Given the description of an element on the screen output the (x, y) to click on. 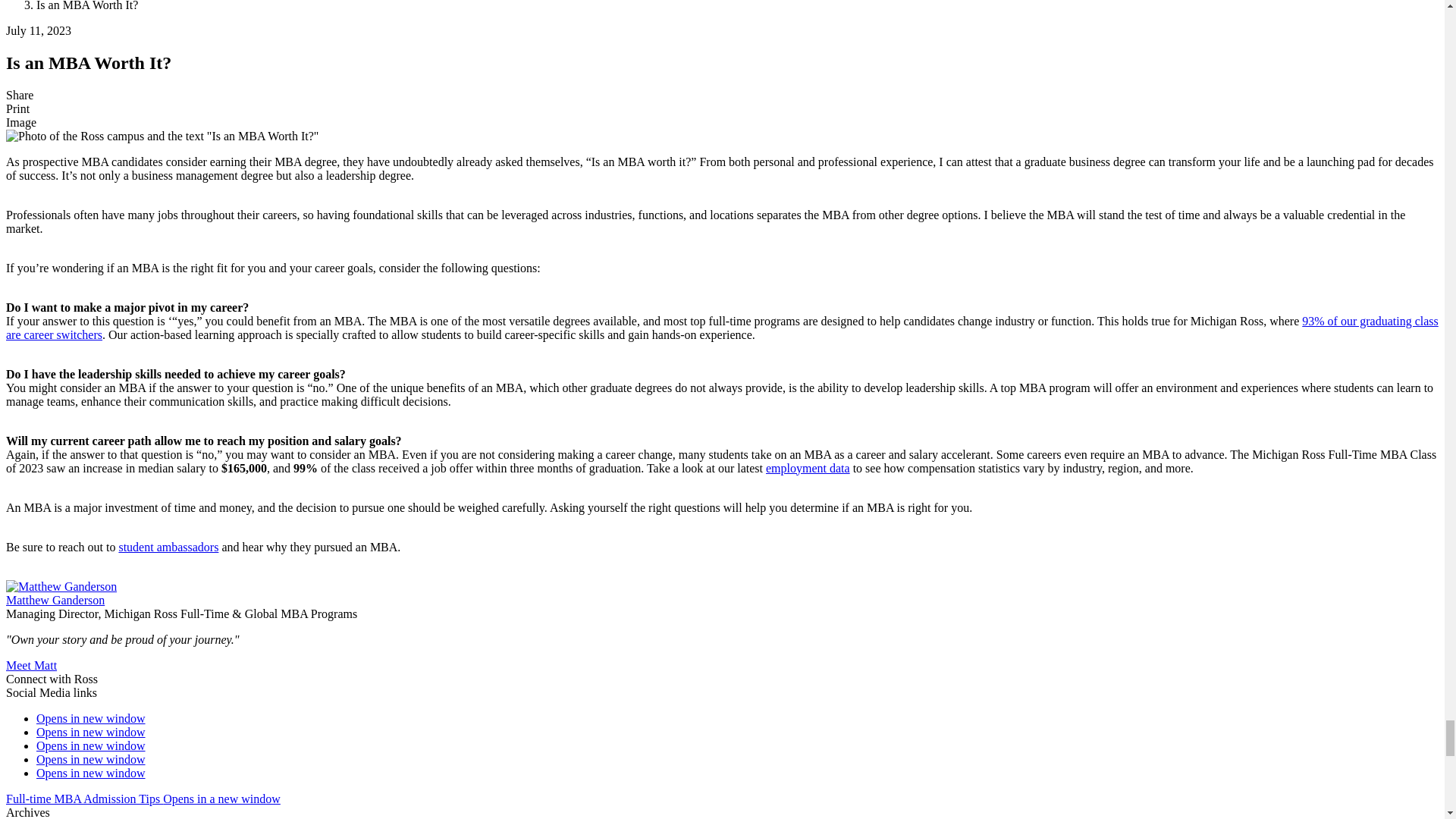
MichiganRoss on Facebook (90, 717)
MichiganRoss on LinkedIn (90, 745)
MichiganRoss on X (90, 731)
MichiganRoss on YouTube (90, 772)
MichiganRoss on Instagram (90, 758)
